Given the description of an element on the screen output the (x, y) to click on. 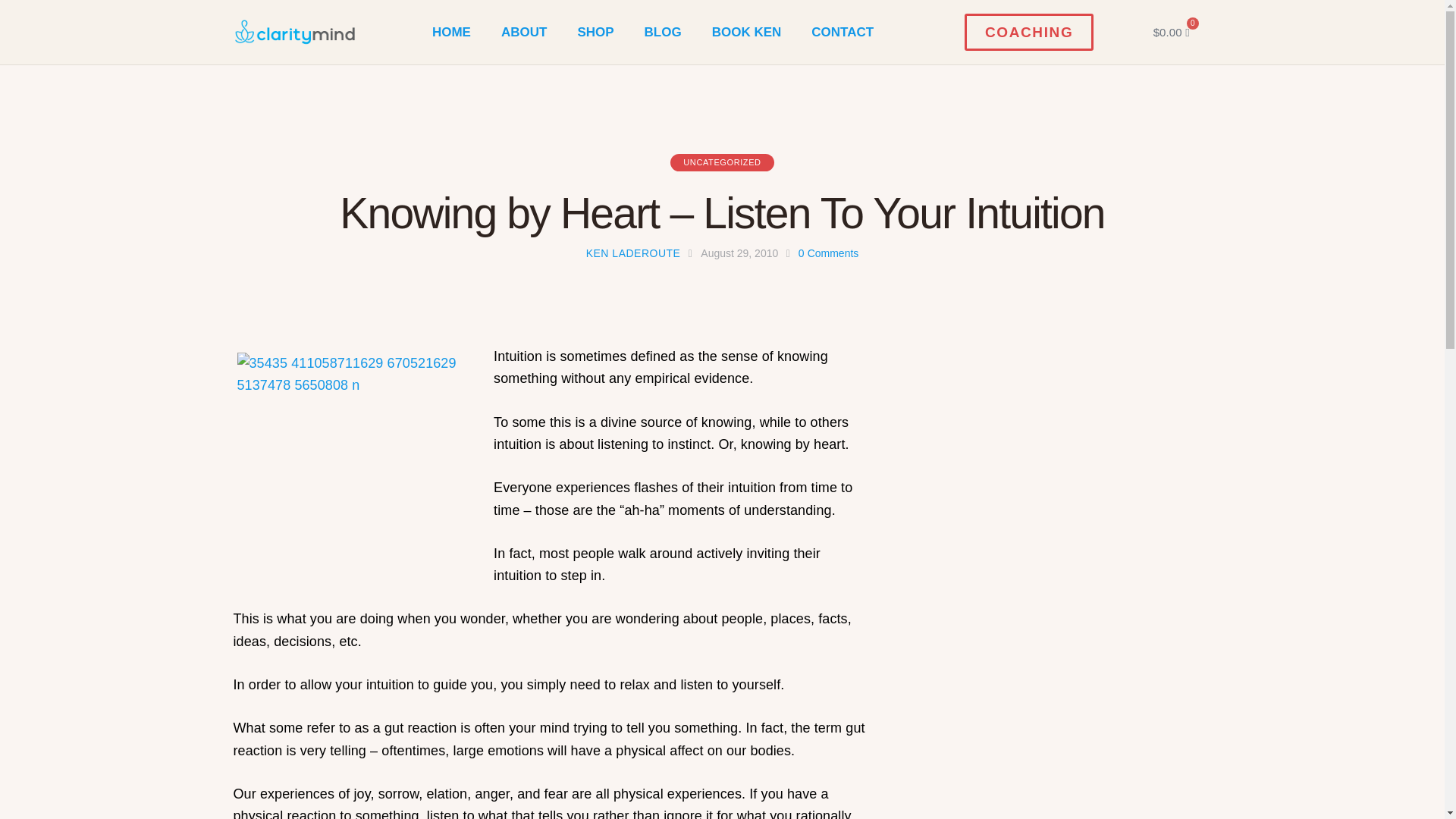
SHOP (595, 32)
BOOK KEN (746, 32)
CONTACT (842, 32)
HOME (451, 32)
ABOUT (524, 32)
BLOG (662, 32)
COACHING (1028, 31)
